Given the description of an element on the screen output the (x, y) to click on. 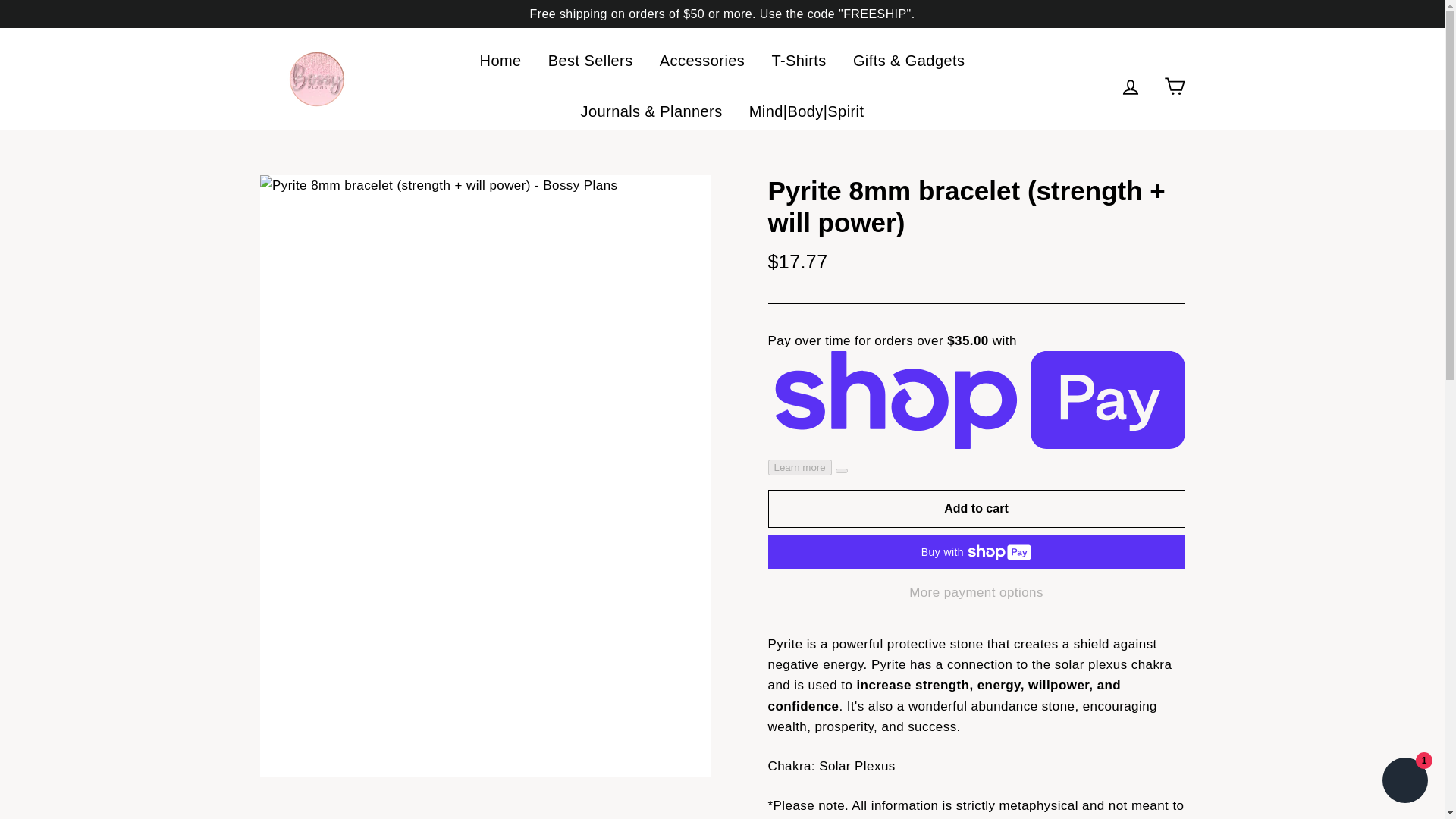
Accessories (702, 60)
T-Shirts (798, 60)
Add to cart (976, 508)
Best Sellers (591, 60)
Shopify online store chat (1404, 781)
More payment options (976, 592)
Home (500, 60)
